Given the description of an element on the screen output the (x, y) to click on. 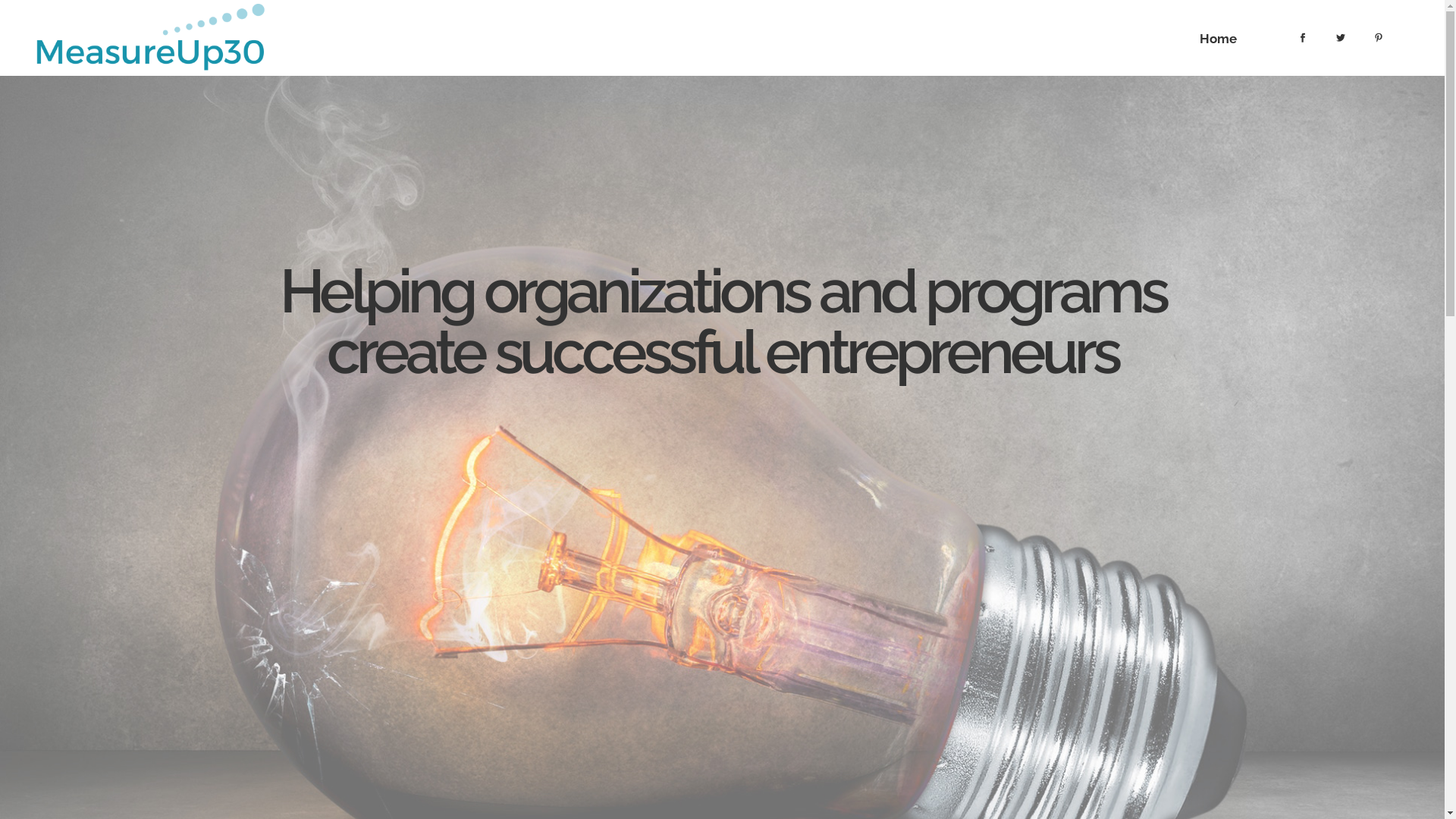
Home Element type: text (1217, 37)
